Given the description of an element on the screen output the (x, y) to click on. 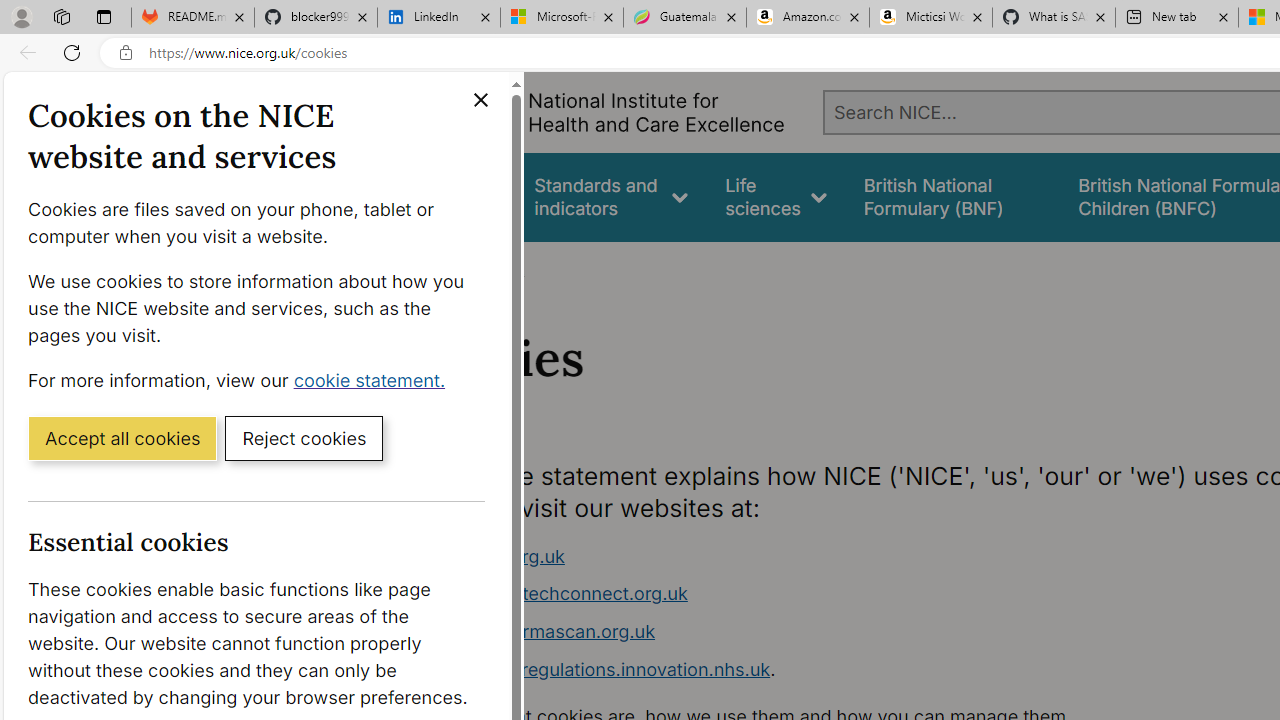
LinkedIn (438, 17)
www.digitalregulations.innovation.nhs.uk. (796, 669)
Reject cookies (304, 437)
